Given the description of an element on the screen output the (x, y) to click on. 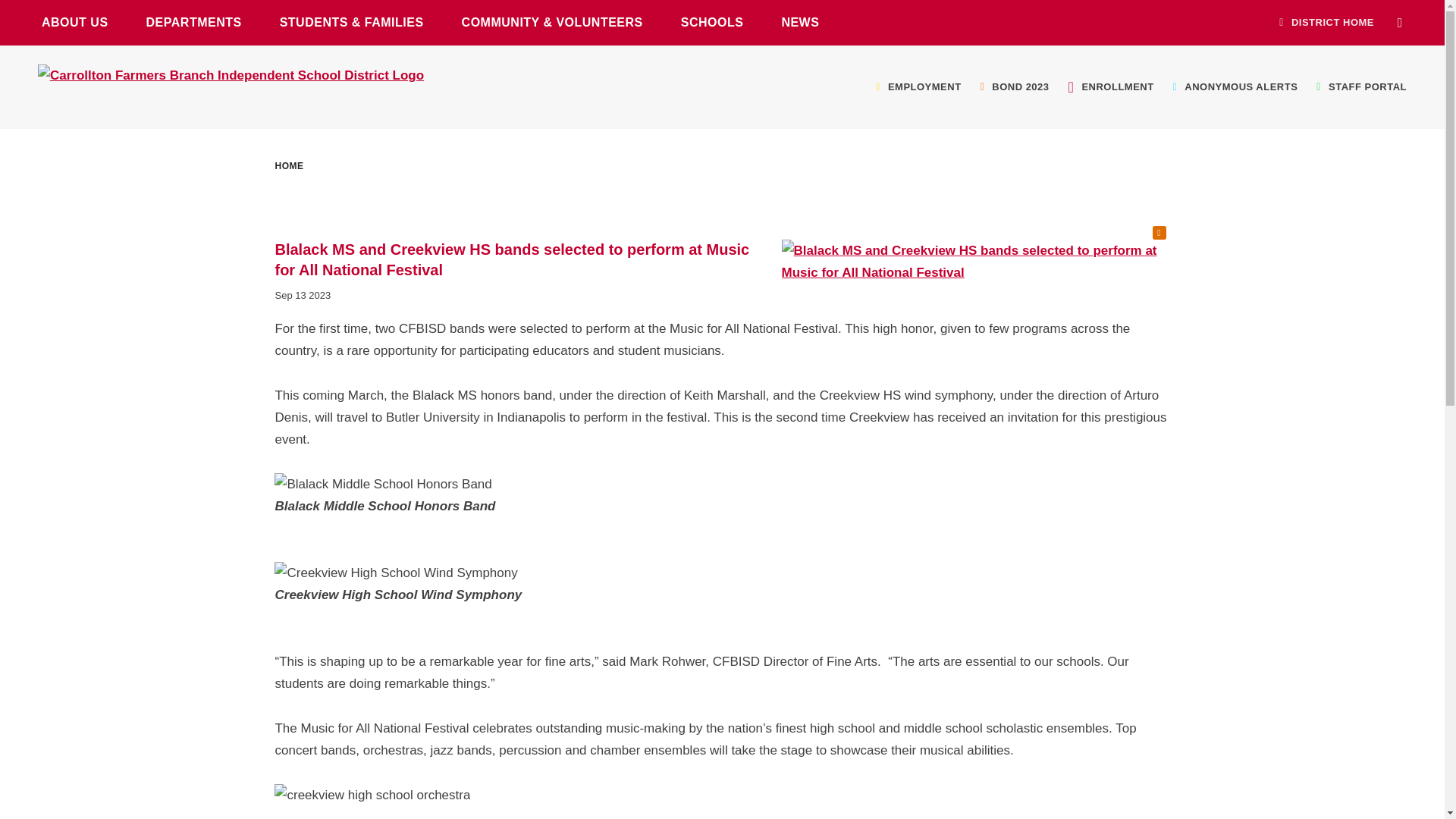
Alerts (1159, 232)
